Given the description of an element on the screen output the (x, y) to click on. 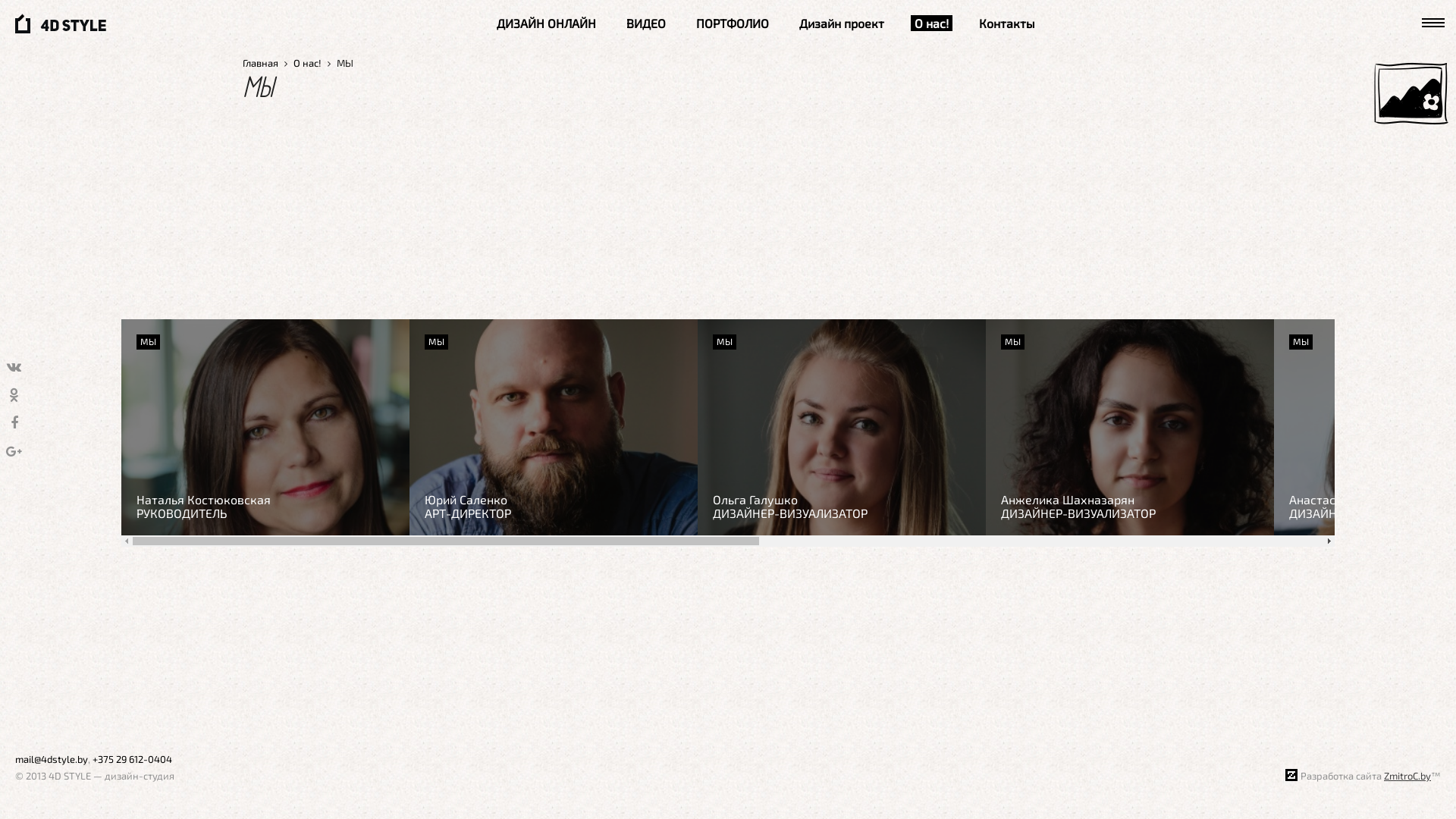
+375 29 612-0404 Element type: text (132, 759)
ZmitroC.by Element type: text (1406, 775)
mail@4dstyle.by Element type: text (51, 759)
